Given the description of an element on the screen output the (x, y) to click on. 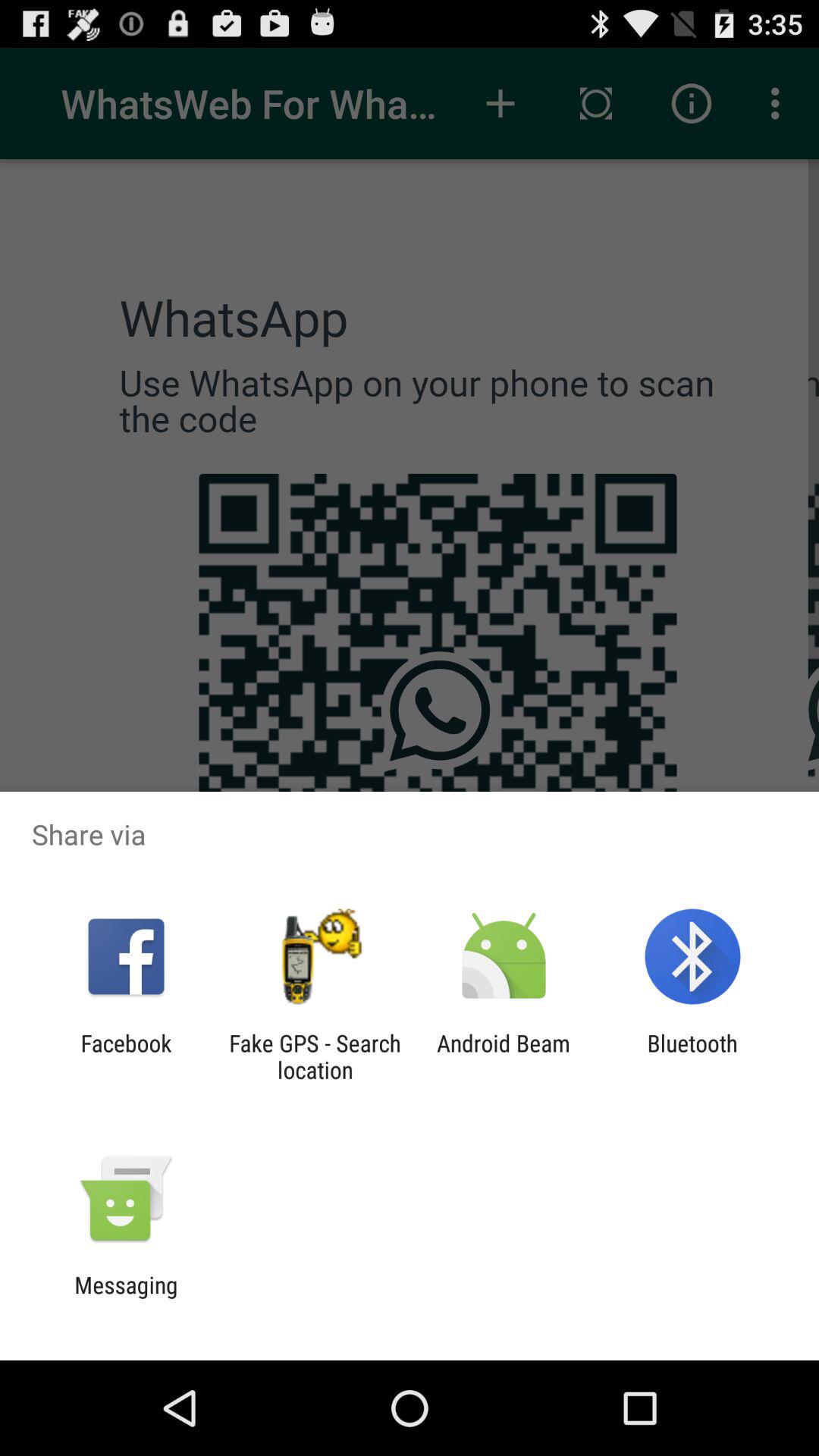
scroll to the facebook app (125, 1056)
